Given the description of an element on the screen output the (x, y) to click on. 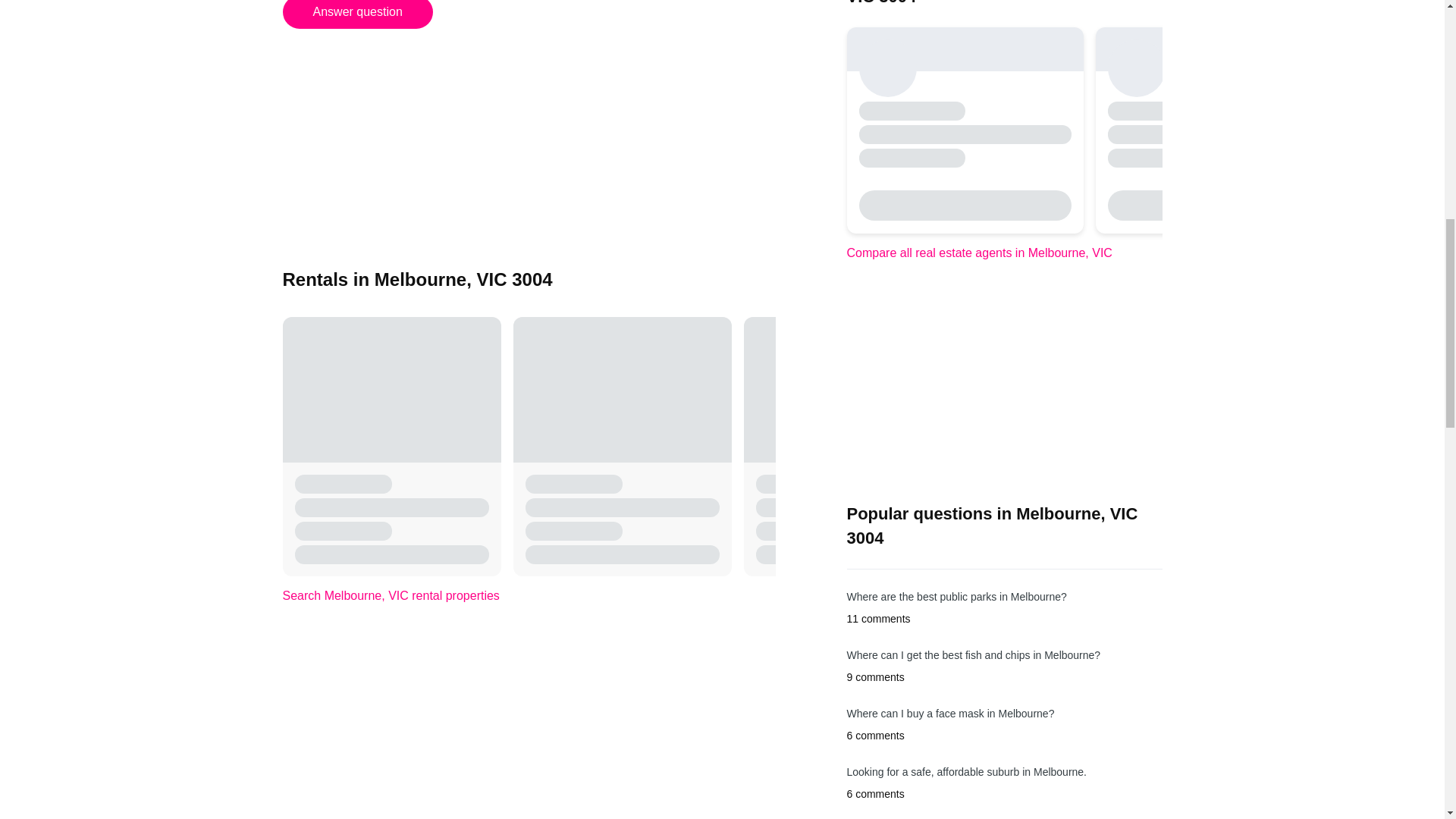
Search Melbourne, VIC rental properties (390, 594)
Answer question (357, 14)
